Given the description of an element on the screen output the (x, y) to click on. 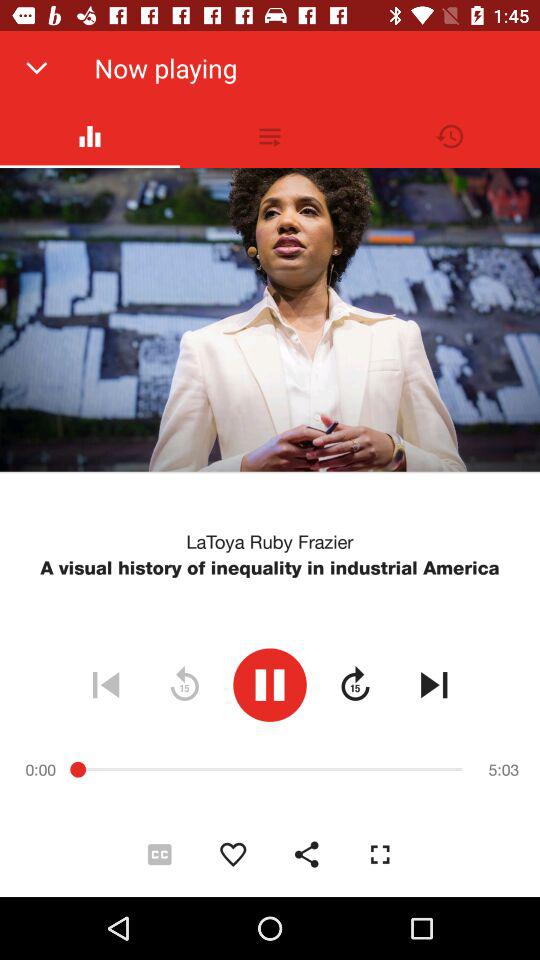
open the item below a visual history icon (269, 684)
